Given the description of an element on the screen output the (x, y) to click on. 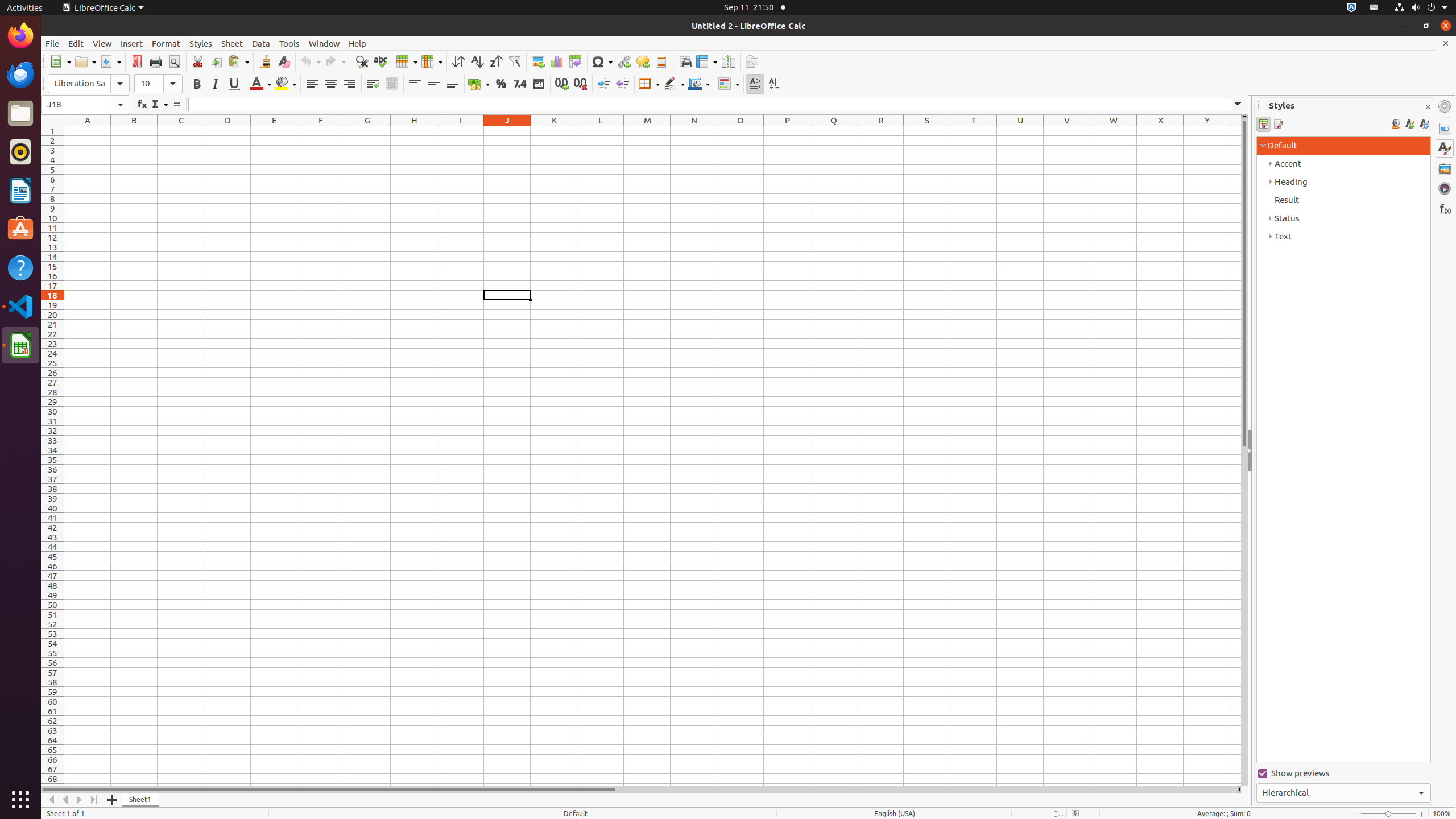
File Element type: menu (51, 43)
Percent Element type: push-button (500, 83)
H1 Element type: table-cell (413, 130)
Split Window Element type: push-button (727, 61)
Move To Home Element type: push-button (51, 799)
